Given the description of an element on the screen output the (x, y) to click on. 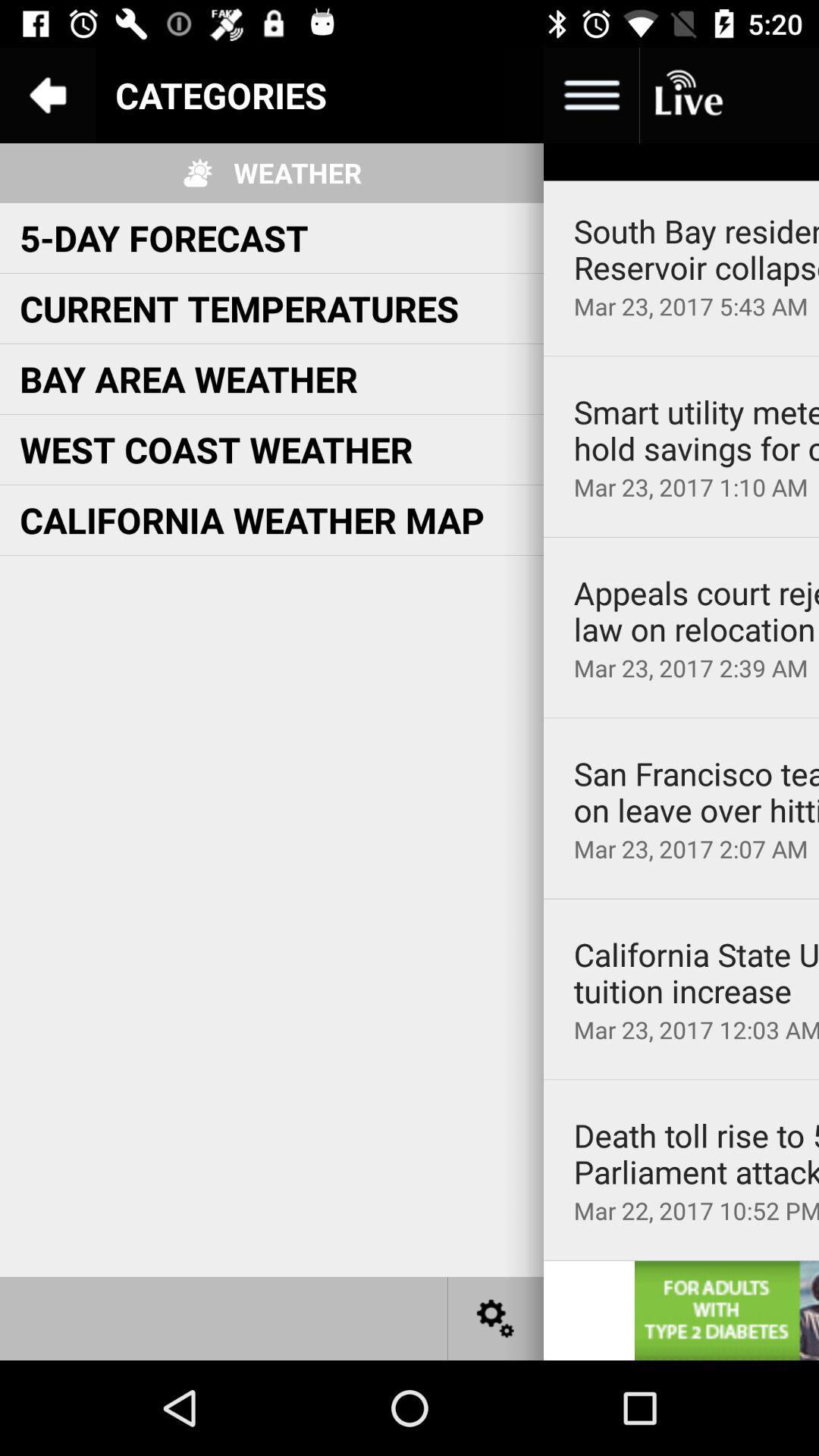
click for settings (495, 1318)
